Given the description of an element on the screen output the (x, y) to click on. 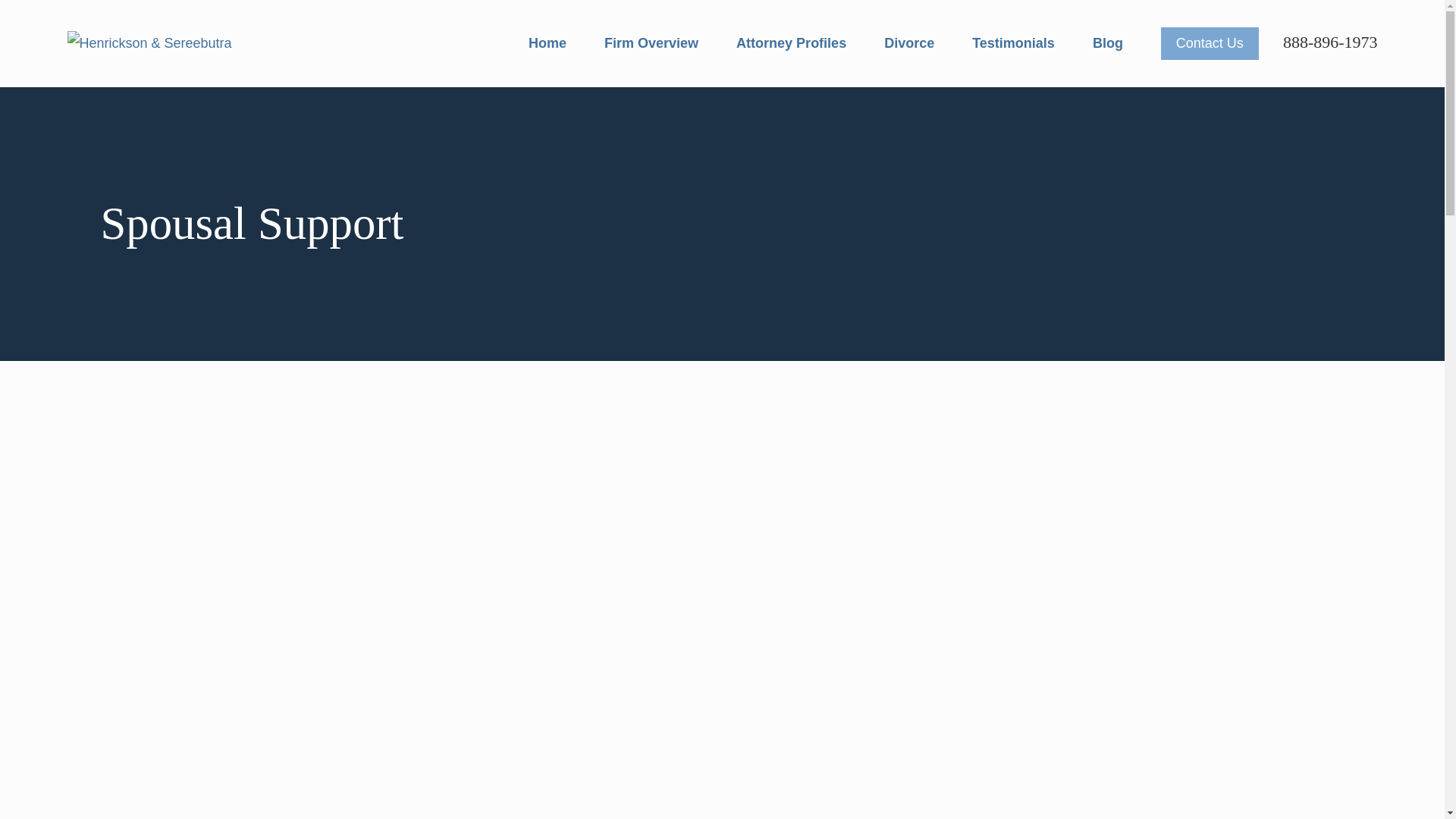
Home (148, 43)
Firm Overview (651, 43)
Attorney Profiles (790, 43)
Blog (1107, 43)
Divorce (908, 43)
Testimonials (1013, 43)
Home (547, 43)
